Given the description of an element on the screen output the (x, y) to click on. 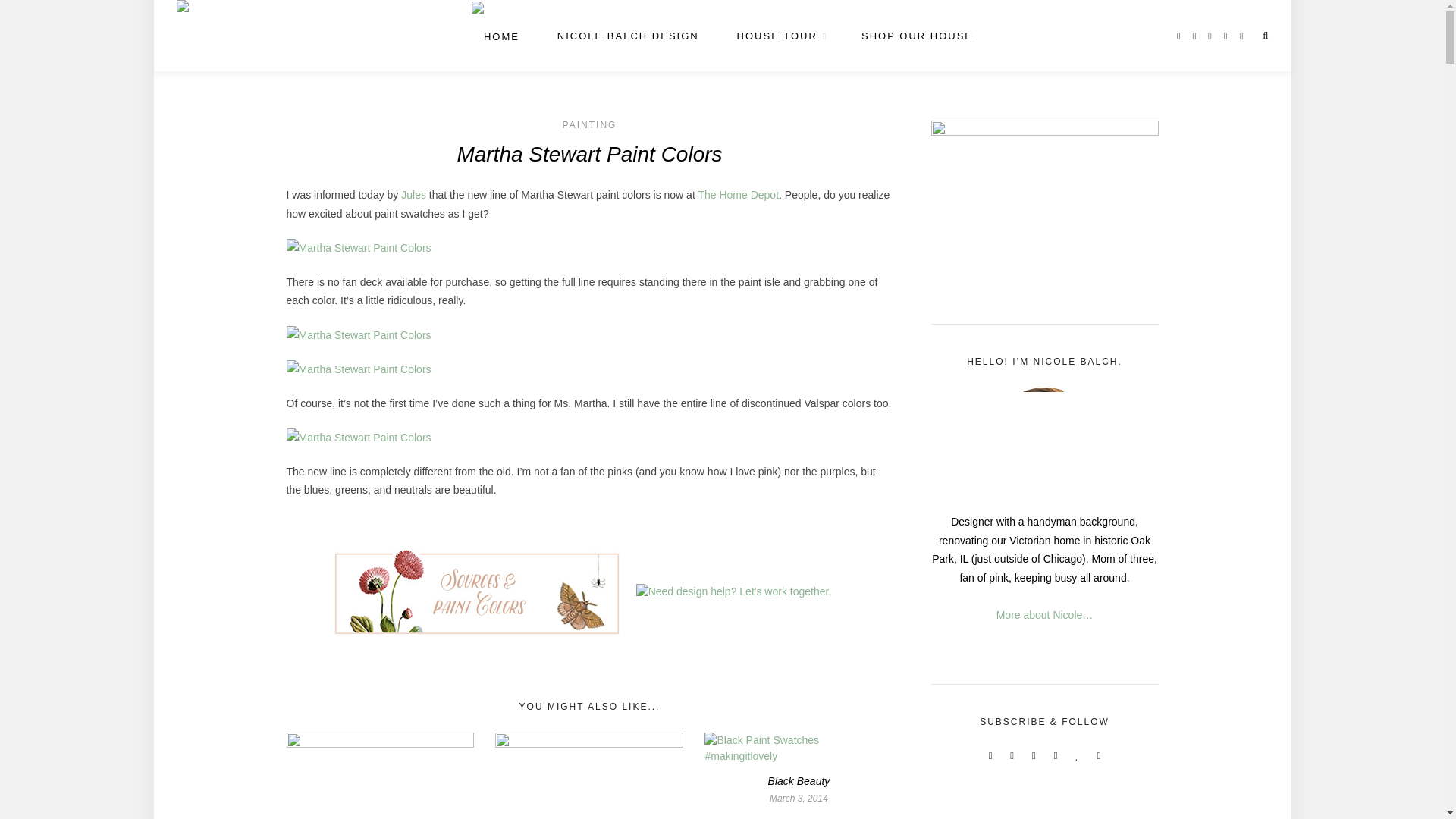
Martha Stewart Paint Colors by pinklovesbrown, on Flickr (358, 334)
Home (495, 36)
PAINTING (589, 124)
Jules (413, 194)
The Home Depot (737, 194)
Martha Stewart Paint Colors by pinklovesbrown, on Flickr (358, 436)
Black Beauty (798, 780)
Martha Stewart Paint Colors by pinklovesbrown, on Flickr (358, 368)
Martha Stewart Paint Colors by pinklovesbrown, on Flickr (358, 246)
HOUSE TOUR (780, 36)
NICOLE BALCH DESIGN (627, 36)
SHOP OUR HOUSE (916, 36)
